Given the description of an element on the screen output the (x, y) to click on. 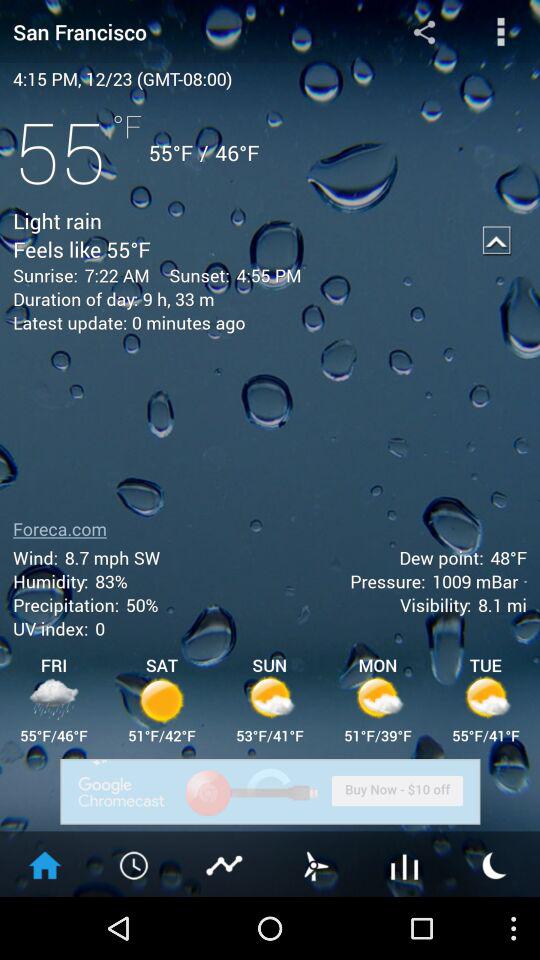
toggle windmill option (315, 864)
